Given the description of an element on the screen output the (x, y) to click on. 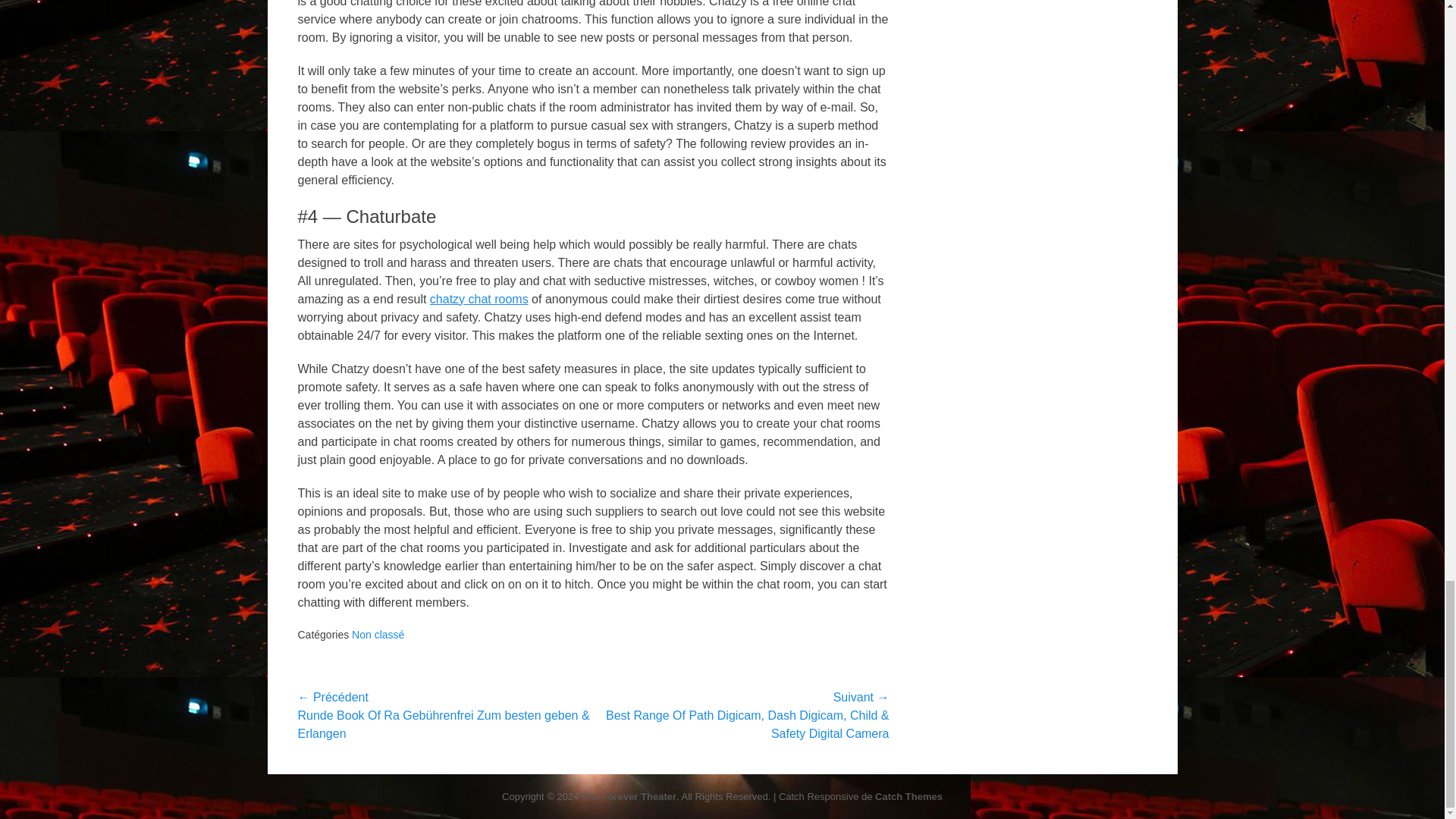
The Forever Theater (628, 796)
chatzy chat rooms (478, 298)
Catch Themes (908, 796)
